Given the description of an element on the screen output the (x, y) to click on. 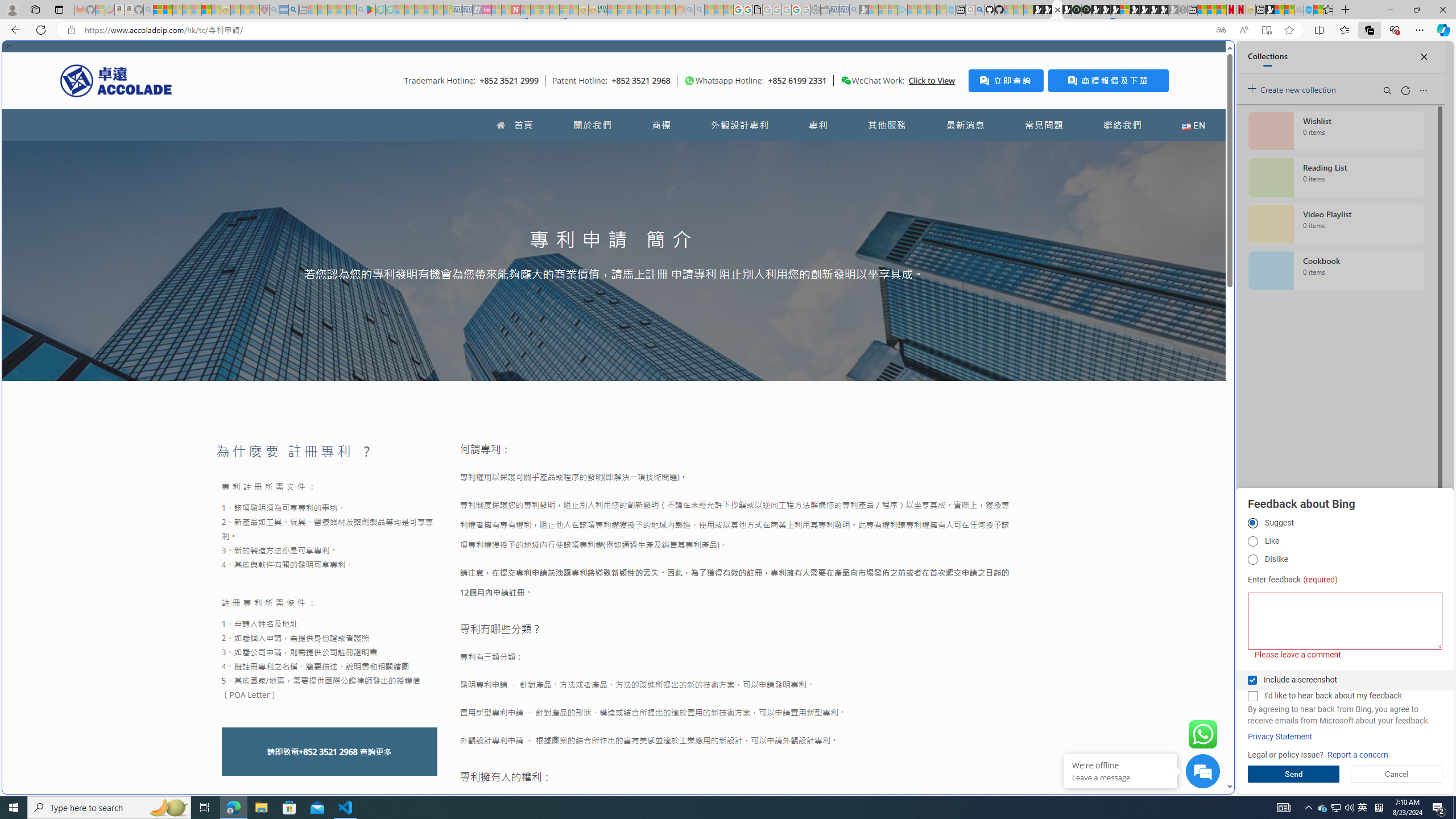
14 Common Myths Debunked By Scientific Facts - Sleeping (534, 9)
Bing Real Estate - Home sales and rental listings - Sleeping (853, 9)
New Report Confirms 2023 Was Record Hot | Watch - Sleeping (196, 9)
Close split screen (1208, 57)
utah sues federal government - Search (292, 9)
EN (1193, 124)
